Given the description of an element on the screen output the (x, y) to click on. 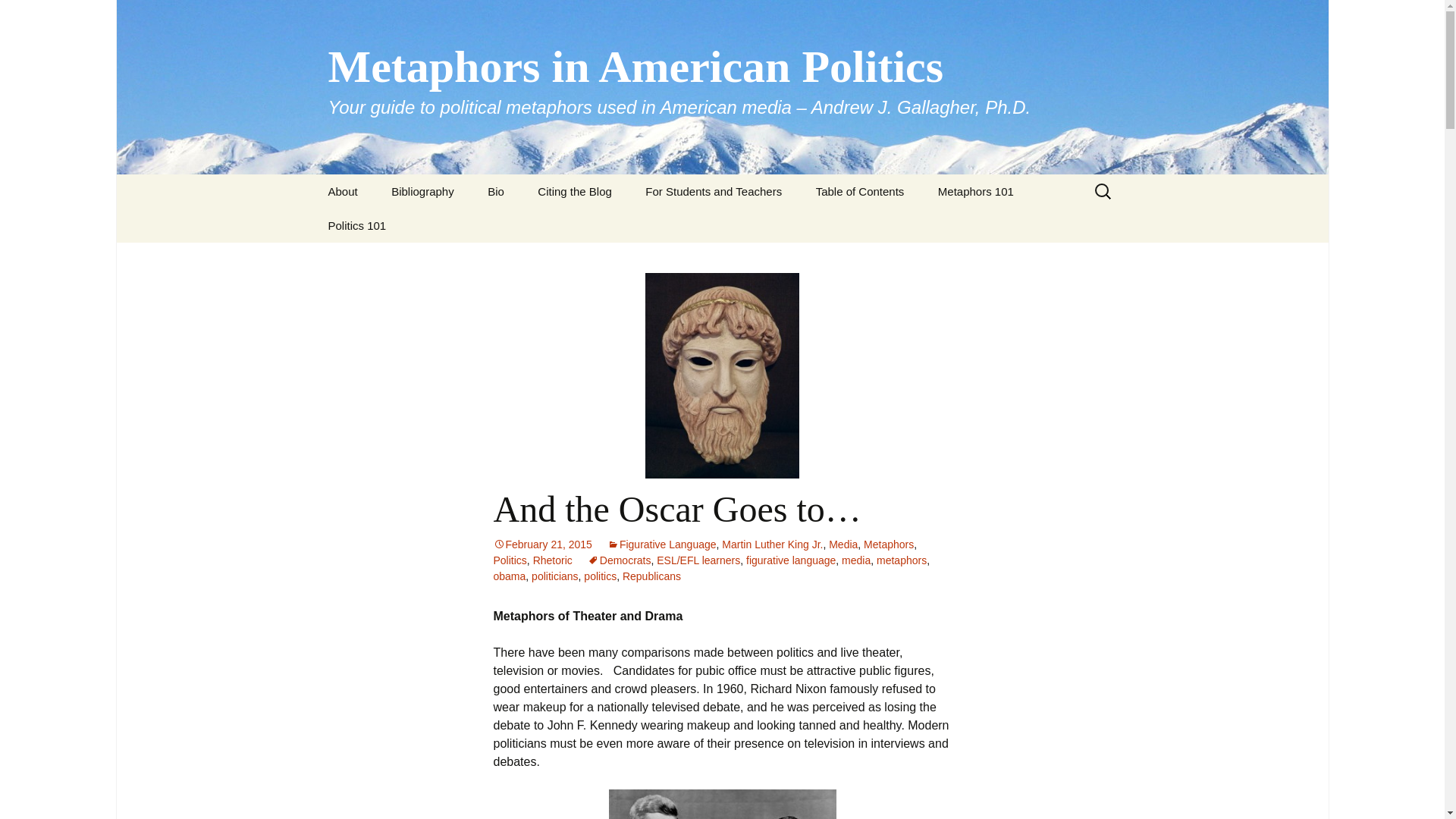
Figurative Language (661, 544)
Search (18, 15)
Republicans (652, 576)
Media (842, 544)
obama (509, 576)
Metaphors 101 (976, 191)
For Students and Teachers (713, 191)
figurative language (790, 560)
Politics (509, 560)
